Given the description of an element on the screen output the (x, y) to click on. 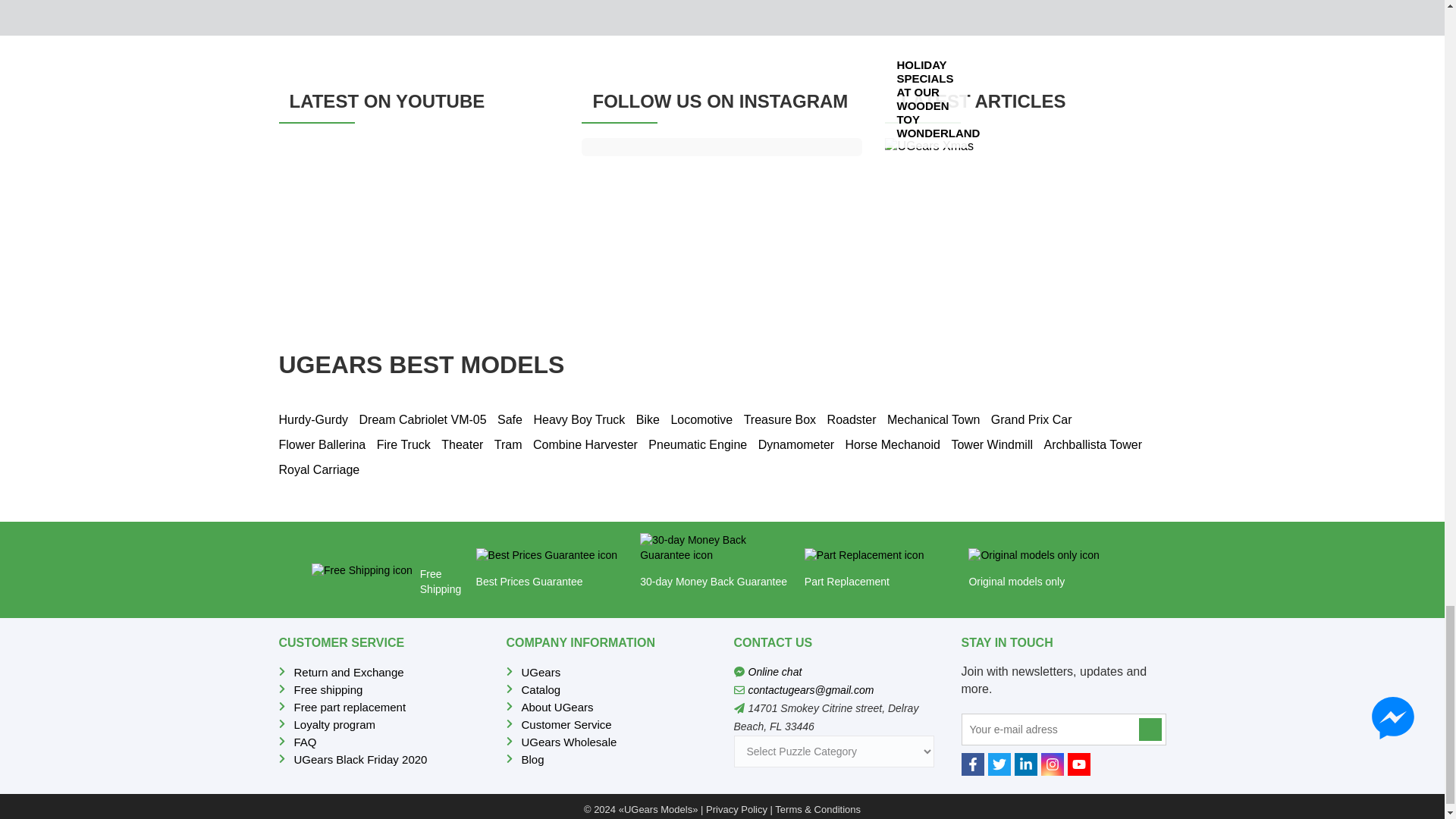
Assembling UGears Amber Box (419, 216)
Send (1149, 729)
